Given the description of an element on the screen output the (x, y) to click on. 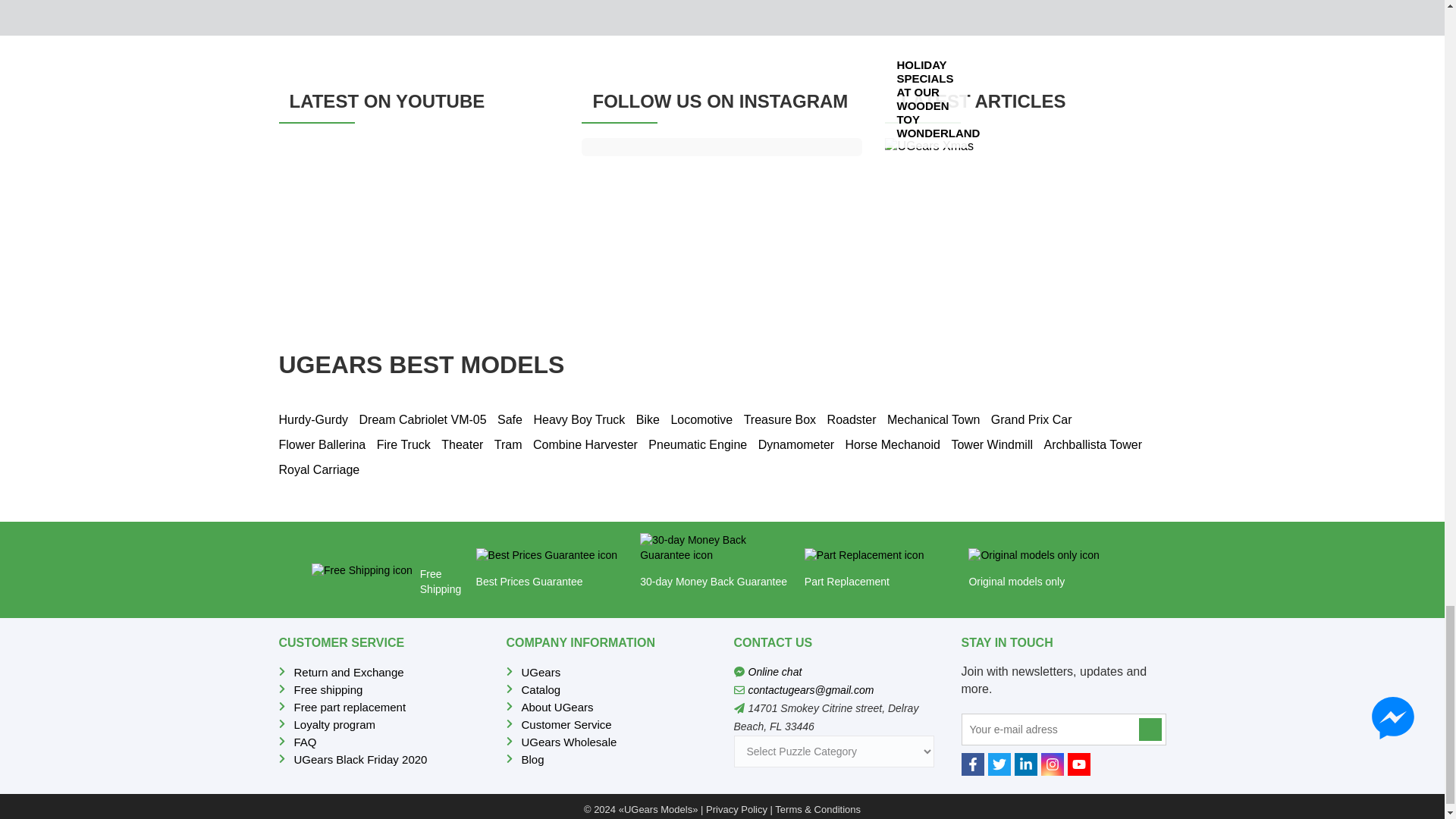
Assembling UGears Amber Box (419, 216)
Send (1149, 729)
